Given the description of an element on the screen output the (x, y) to click on. 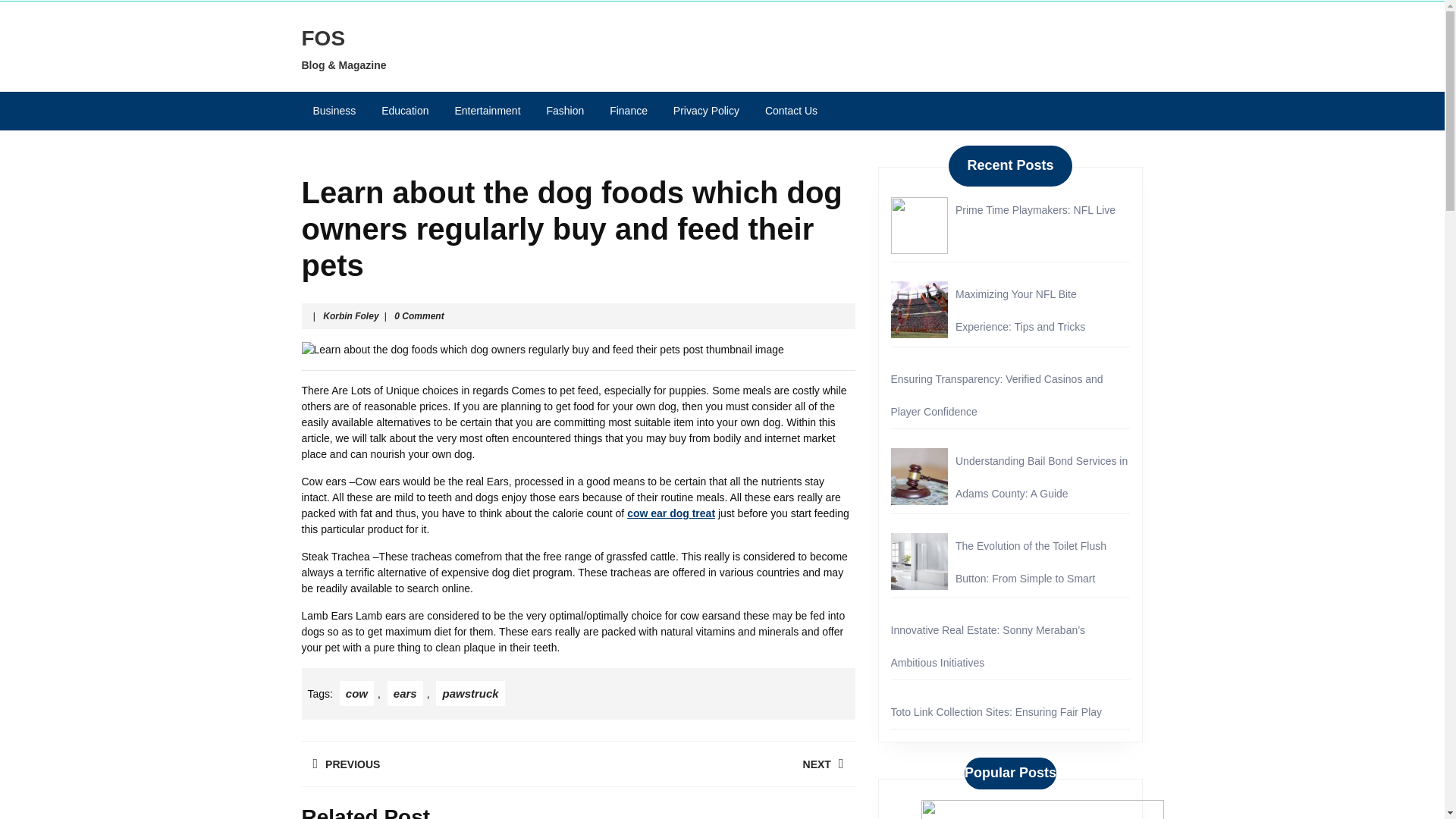
Prime Time Playmakers: NFL Live (1035, 209)
ears (405, 692)
Understanding Bail Bond Services in Adams County: A Guide (350, 316)
Privacy Policy (716, 764)
cow (1040, 477)
Finance (706, 110)
Education (356, 692)
Business (628, 110)
pawstruck (404, 110)
Maximizing Your NFL Bite Experience: Tips and Tricks (334, 110)
Entertainment (469, 692)
Toto Link Collection Sites: Ensuring Fair Play (1019, 310)
